Given the description of an element on the screen output the (x, y) to click on. 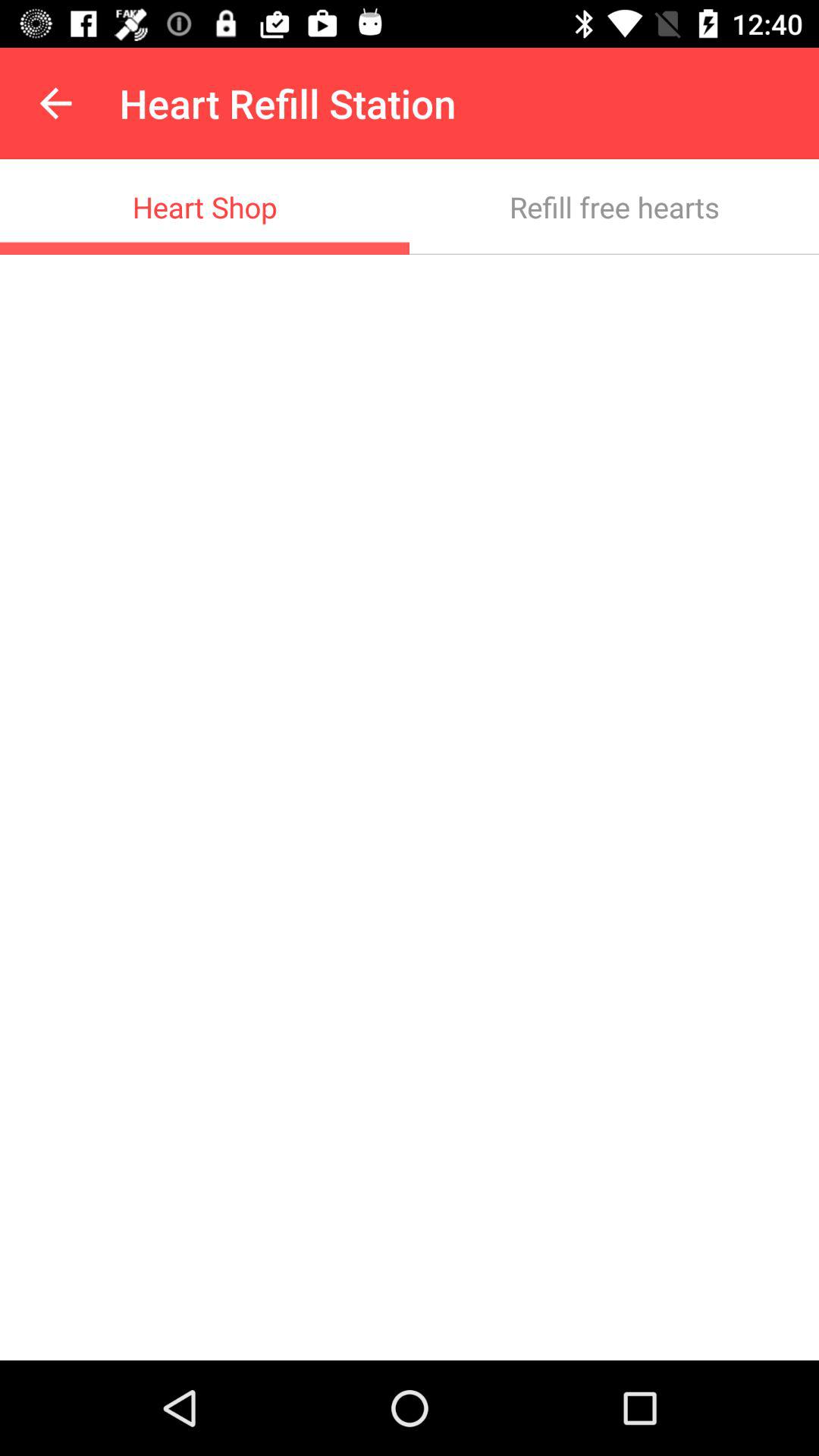
turn off the icon to the left of the heart refill station icon (55, 103)
